Given the description of an element on the screen output the (x, y) to click on. 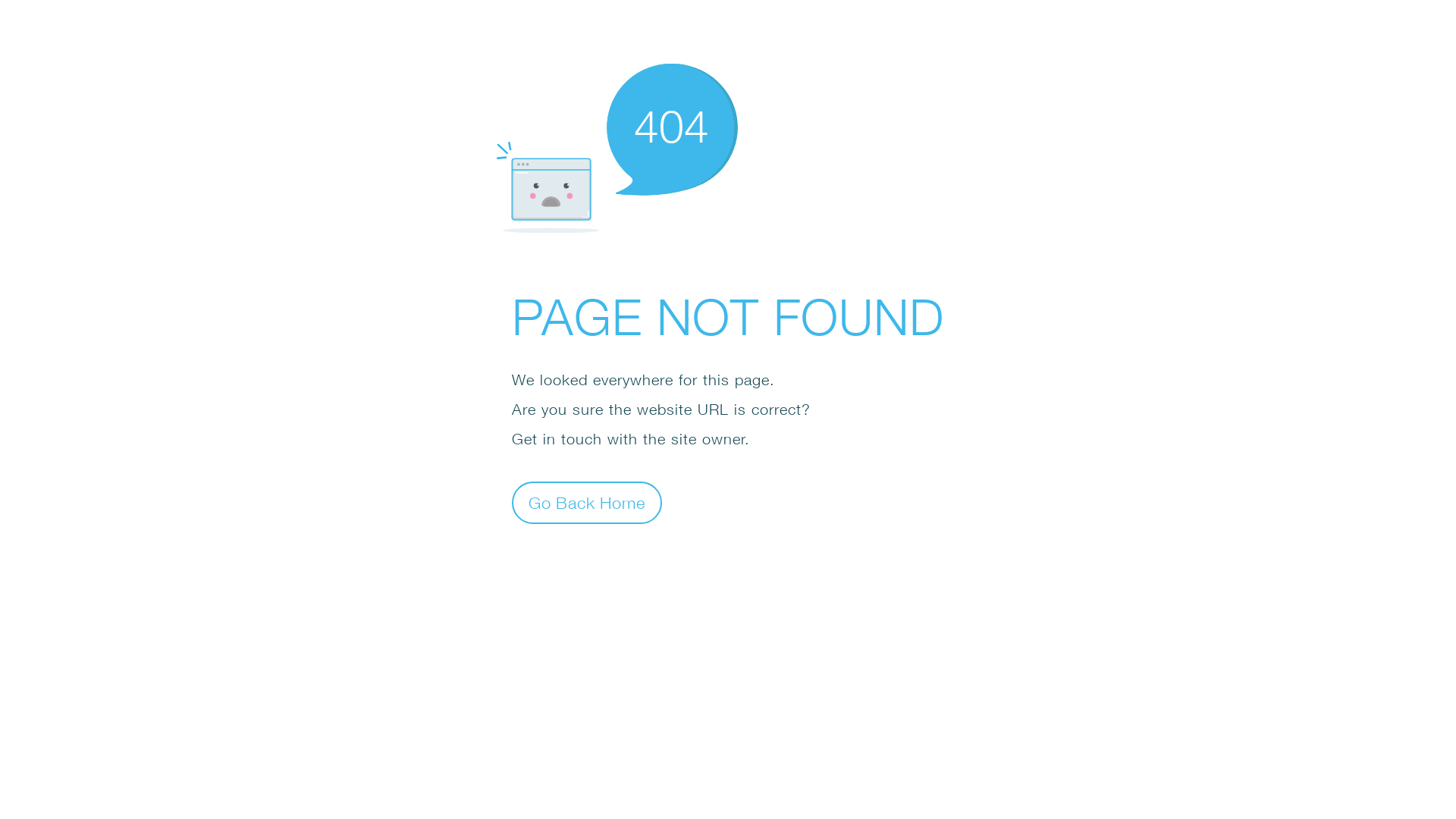
Go Back Home Element type: text (586, 502)
